Given the description of an element on the screen output the (x, y) to click on. 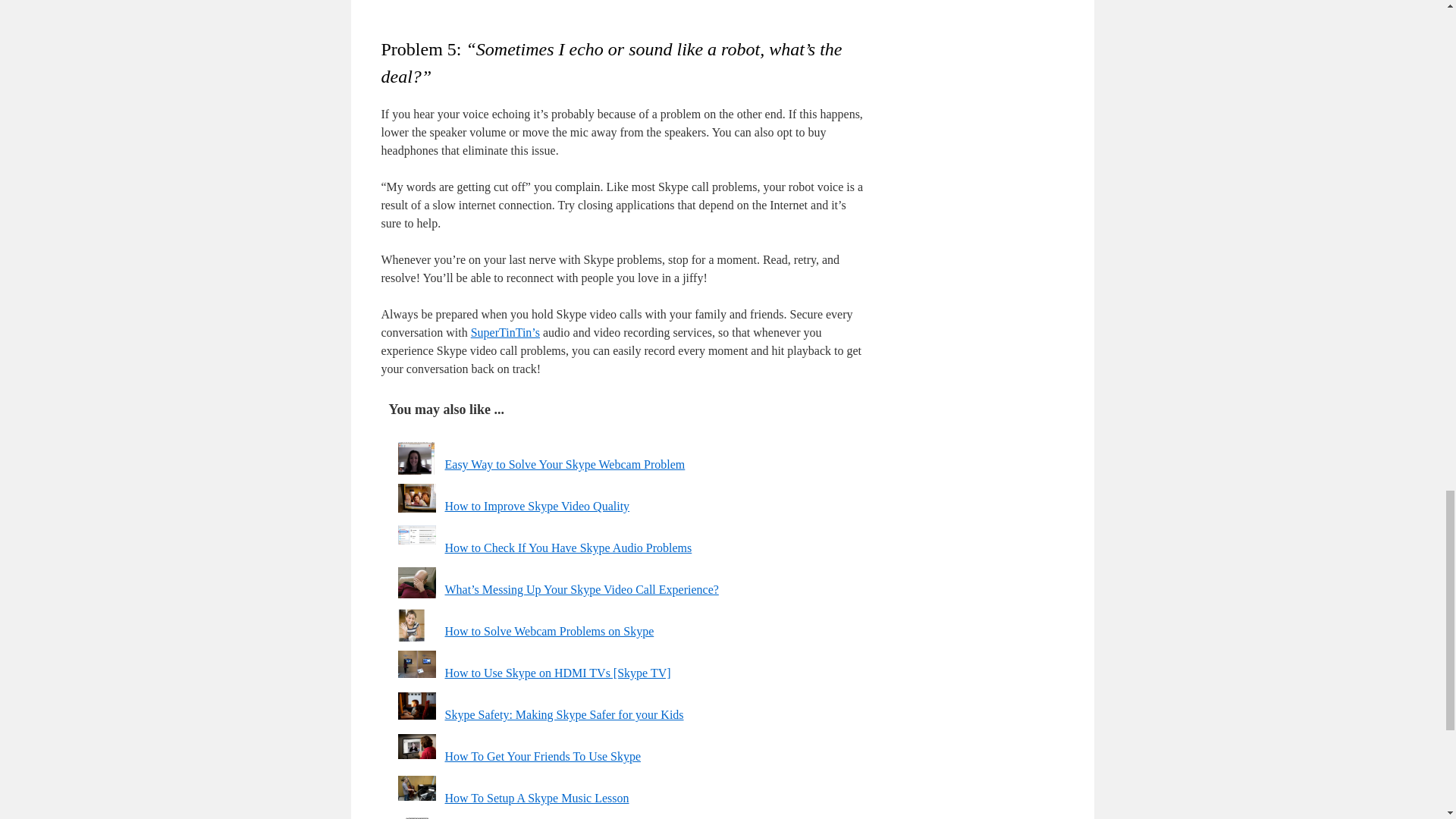
How to Solve Webcam Problems on Skype (548, 631)
How To Setup A Skype Music Lesson (536, 797)
Skype Safety: Making Skype Safer for your Kids (563, 714)
Easy Way to Solve Your Skype Webcam Problem (564, 463)
How to Improve Skype Video Quality (536, 505)
How To Get Your Friends To Use Skype (542, 756)
How to Check If You Have Skype Audio Problems (567, 547)
